Given the description of an element on the screen output the (x, y) to click on. 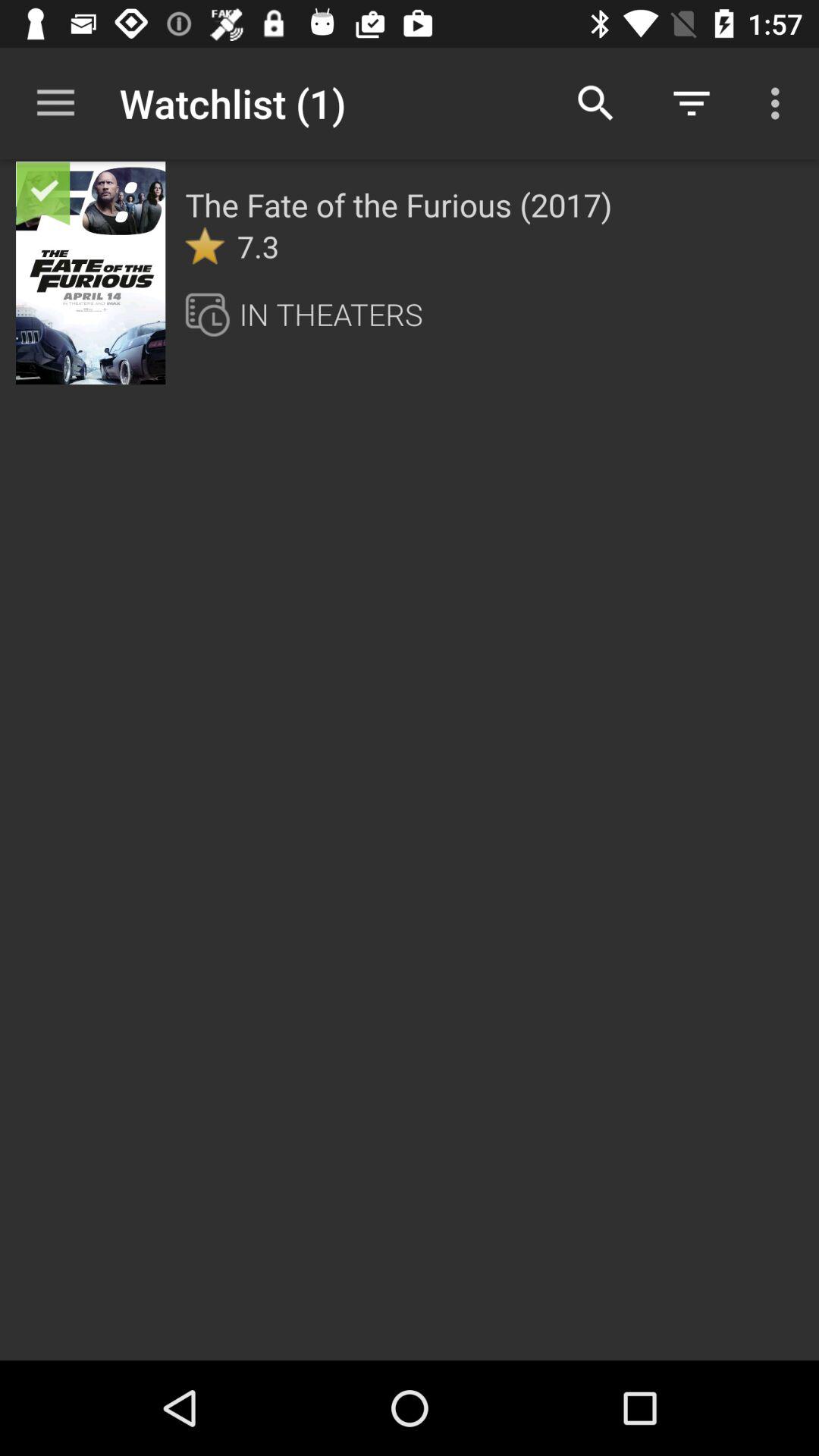
tap item next to watchlist (1) icon (595, 103)
